Given the description of an element on the screen output the (x, y) to click on. 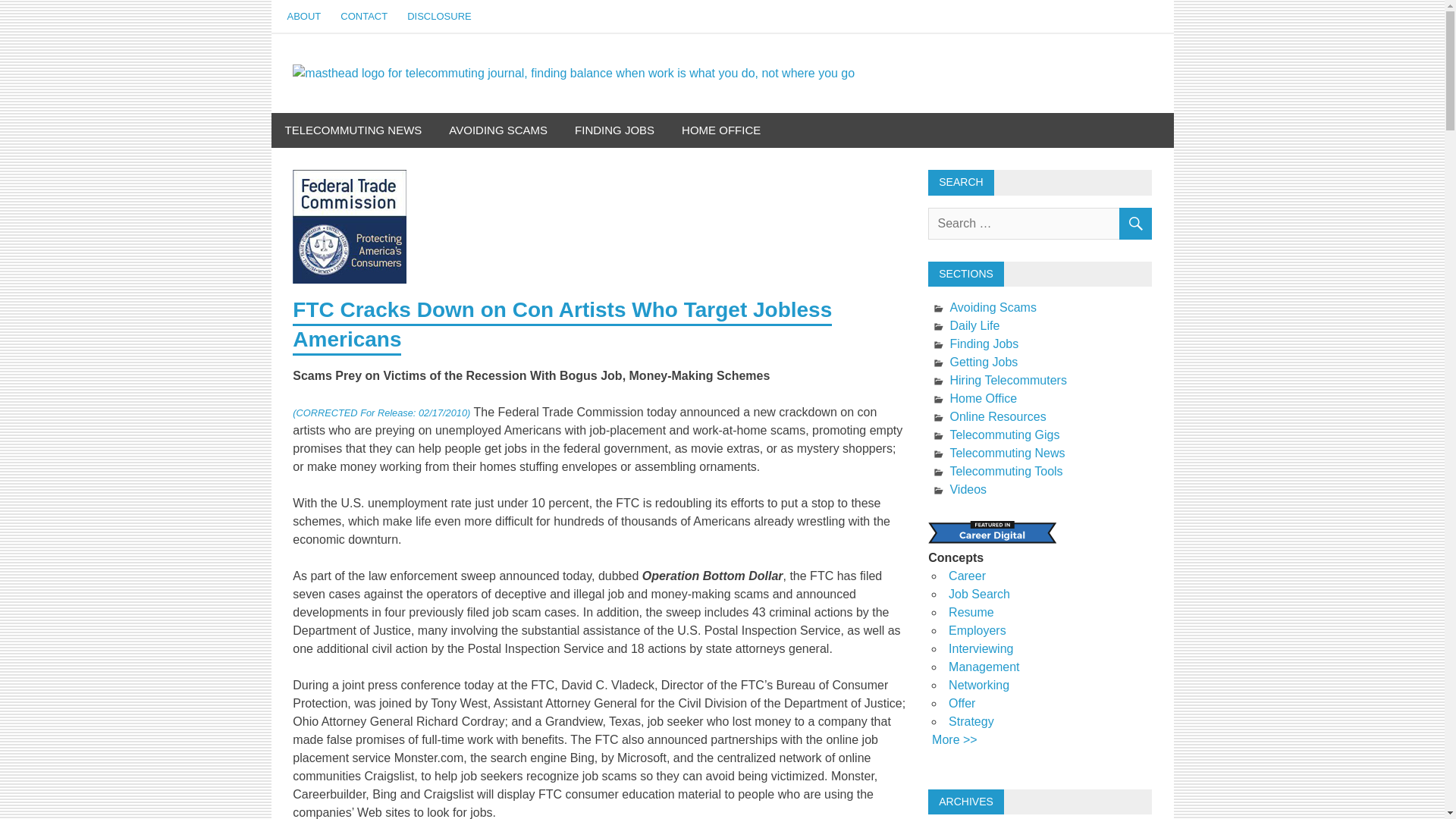
Telecommuting Journal (1033, 85)
FINDING JOBS (614, 130)
Home office tidbits (721, 130)
CONTACT (363, 16)
ABOUT (304, 16)
TELECOMMUTING NEWS (352, 130)
Finding the right fit (614, 130)
AVOIDING SCAMS (497, 130)
Career Digital (992, 531)
HOME OFFICE (721, 130)
The rise of flexibility (352, 130)
Avoiding Scams (992, 307)
Daily Life (973, 325)
DISCLOSURE (439, 16)
